Given the description of an element on the screen output the (x, y) to click on. 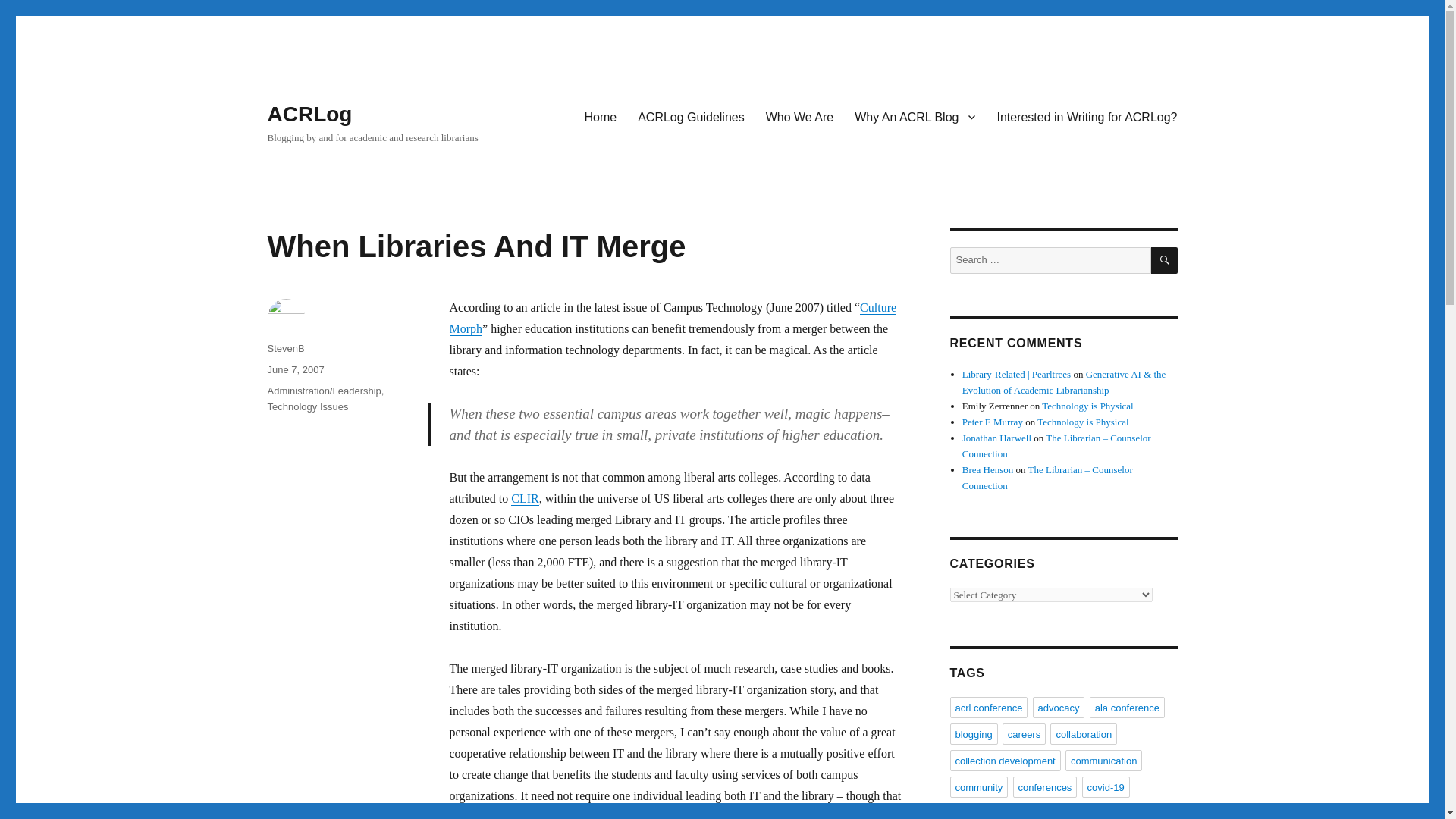
Interested in Writing for ACRLog? (1086, 116)
Brea Henson (987, 469)
Peter E Murray (992, 421)
June 7, 2007 (294, 369)
Technology is Physical (1082, 421)
Who We Are (799, 116)
CLIR (524, 498)
ACRLog (309, 114)
SEARCH (1164, 260)
Technology Issues (306, 406)
